Given the description of an element on the screen output the (x, y) to click on. 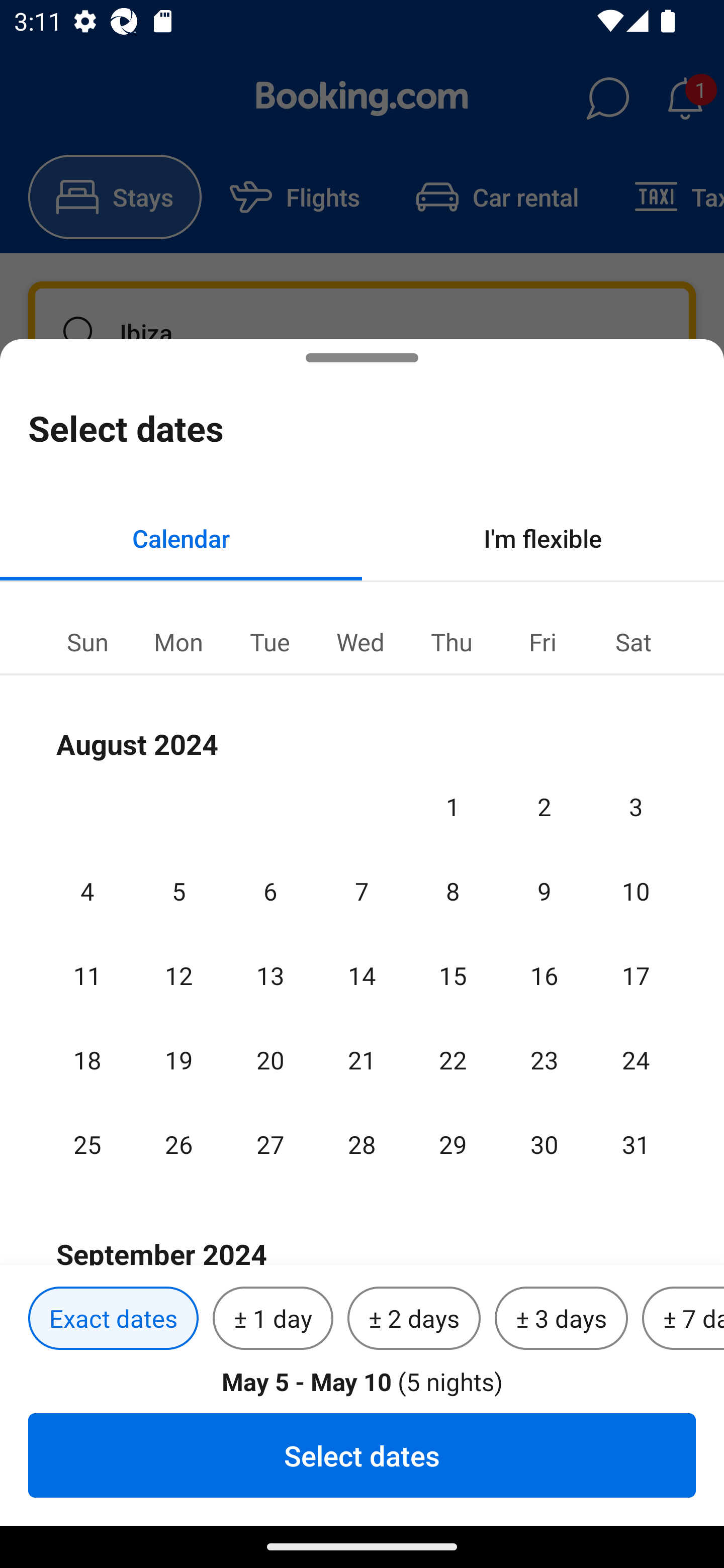
I'm flexible (543, 537)
Exact dates (113, 1318)
± 1 day (272, 1318)
± 2 days (413, 1318)
± 3 days (560, 1318)
± 7 days (683, 1318)
Select dates (361, 1454)
